Given the description of an element on the screen output the (x, y) to click on. 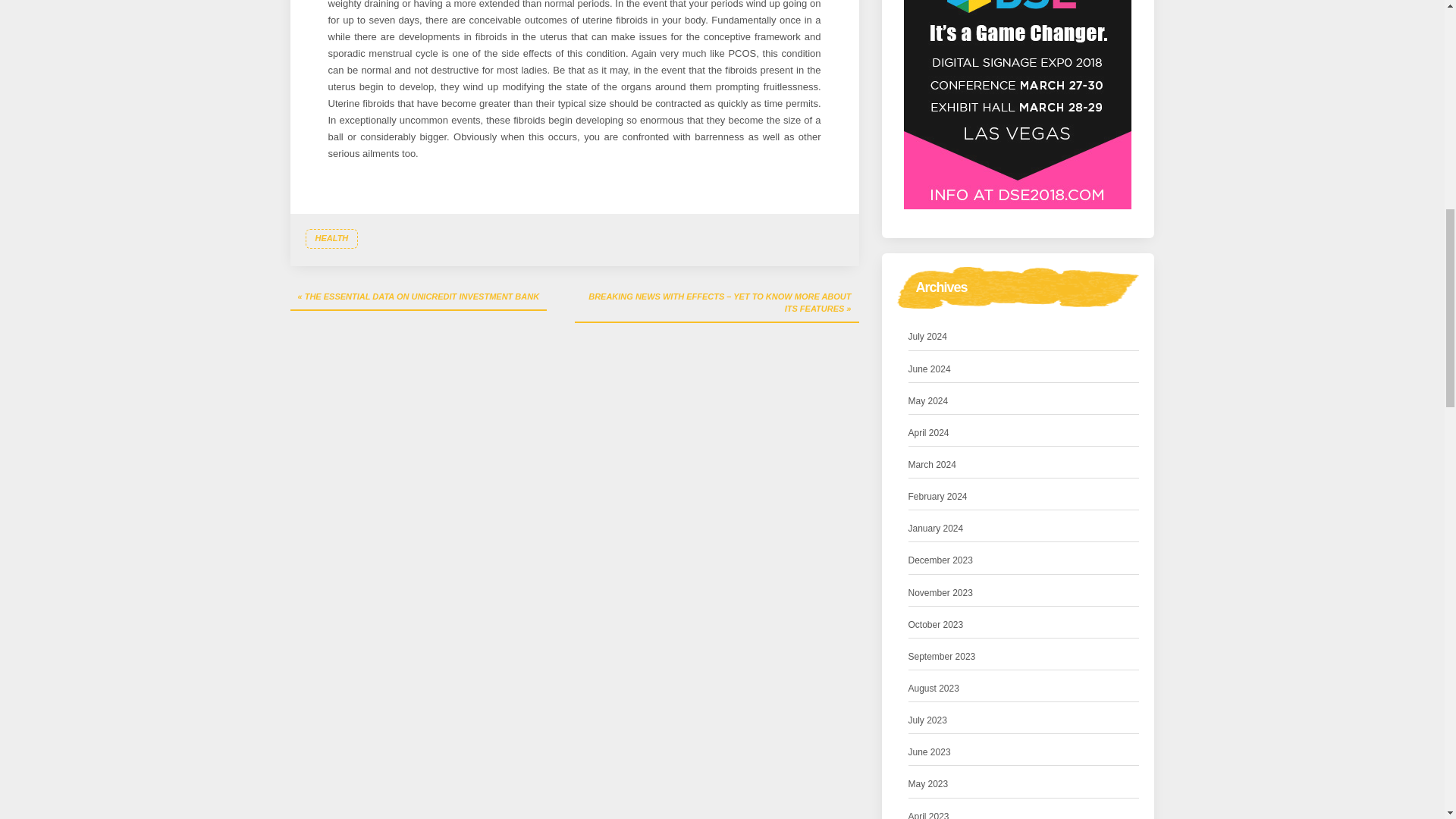
June 2024 (929, 369)
July 2024 (927, 336)
THE ESSENTIAL DATA ON UNICREDIT INVESTMENT BANK (418, 298)
July 2023 (927, 720)
August 2023 (933, 688)
November 2023 (940, 593)
October 2023 (935, 625)
January 2024 (935, 528)
April 2024 (928, 433)
May 2024 (928, 401)
June 2023 (929, 752)
HEALTH (331, 238)
December 2023 (940, 560)
May 2023 (928, 784)
September 2023 (941, 657)
